Given the description of an element on the screen output the (x, y) to click on. 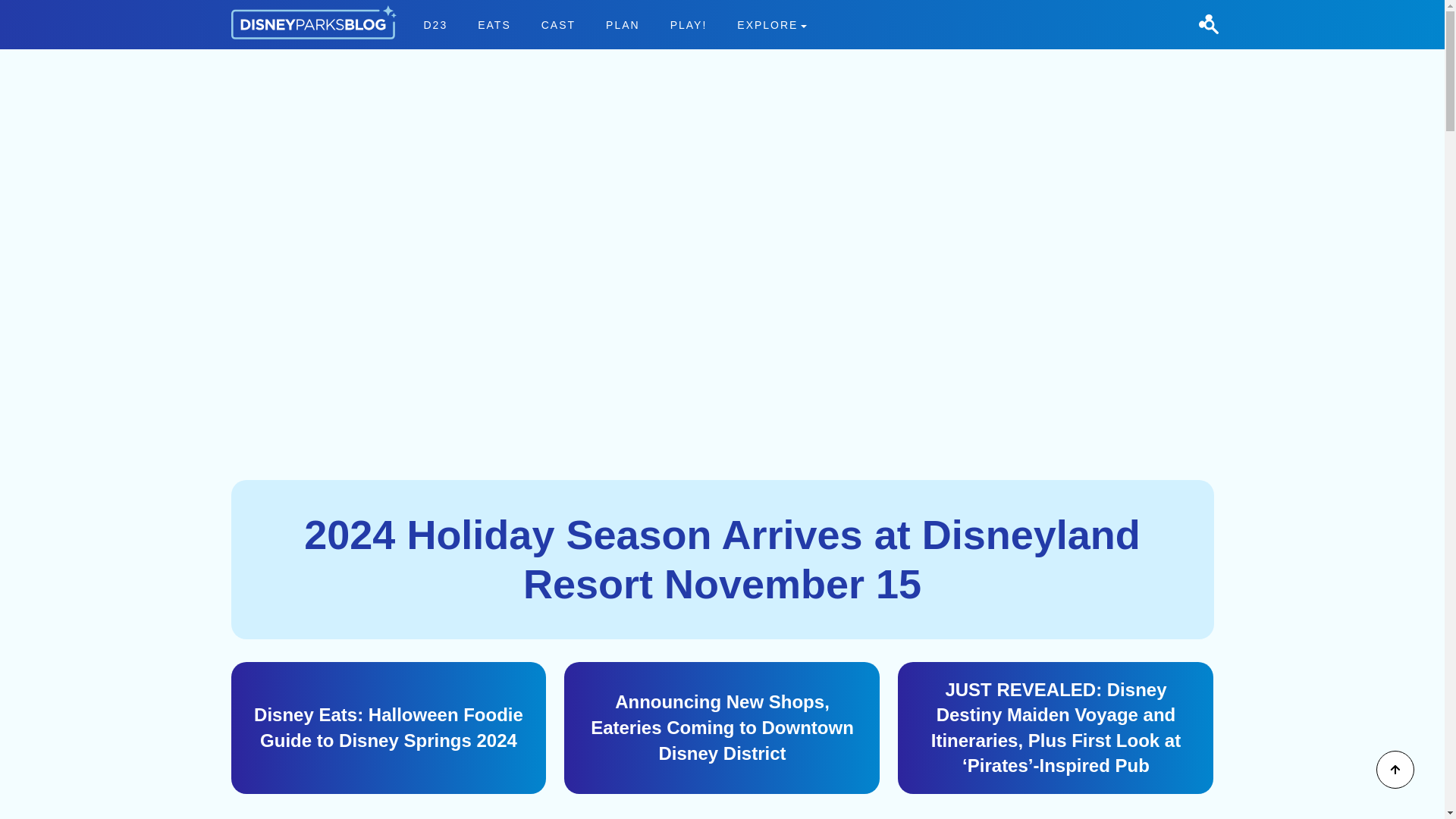
PLAY! (688, 23)
D23 (435, 23)
Skip to content (40, 8)
EXPLORE (614, 23)
Disney Eats: Halloween Foodie Guide to Disney Springs 2024 (771, 23)
CAST (388, 727)
PLAN (558, 23)
EATS (622, 23)
